Given the description of an element on the screen output the (x, y) to click on. 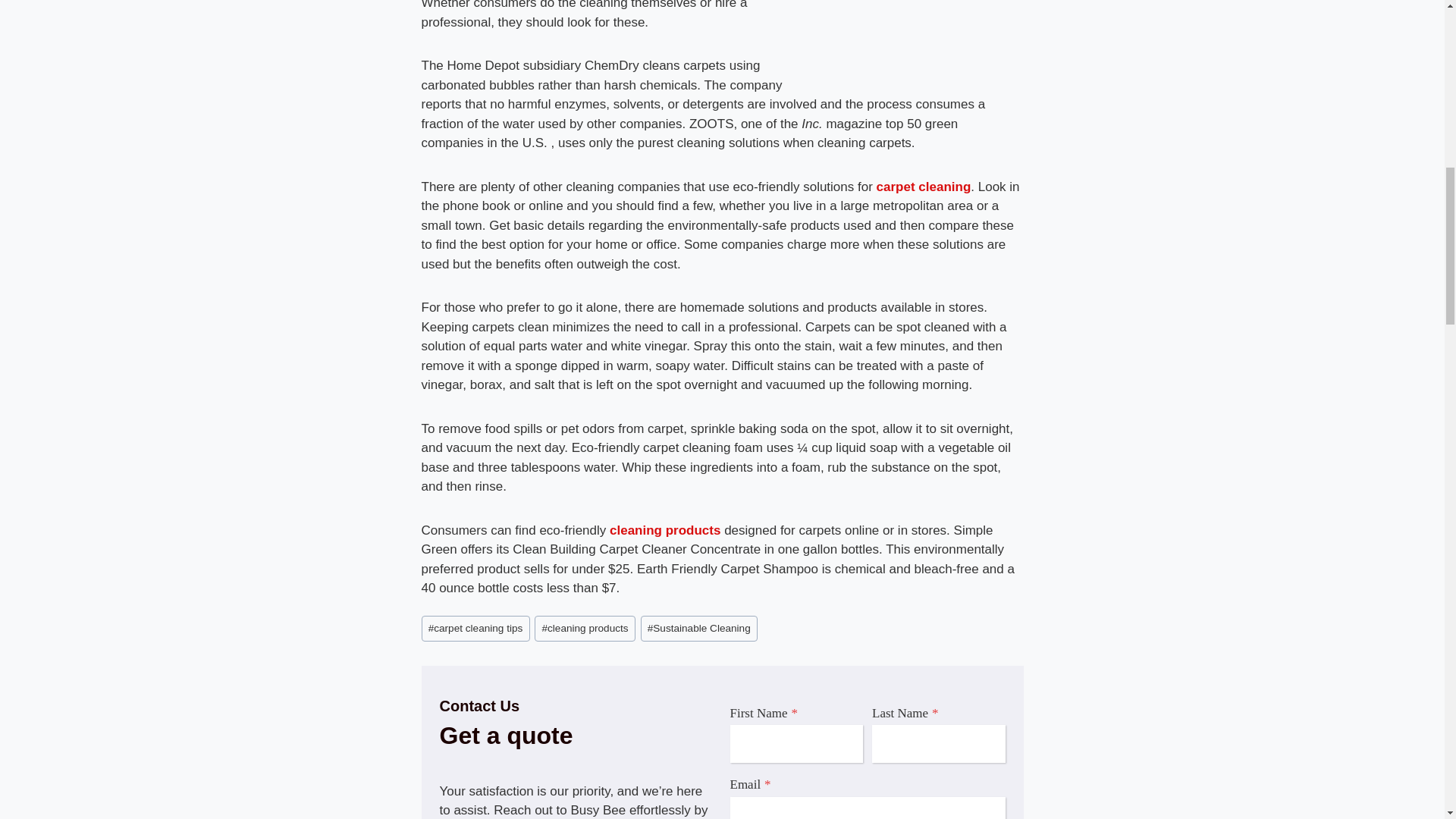
Sustainable Cleaning (698, 627)
cleaning products (584, 627)
carpet cleaning tips (475, 627)
